Given the description of an element on the screen output the (x, y) to click on. 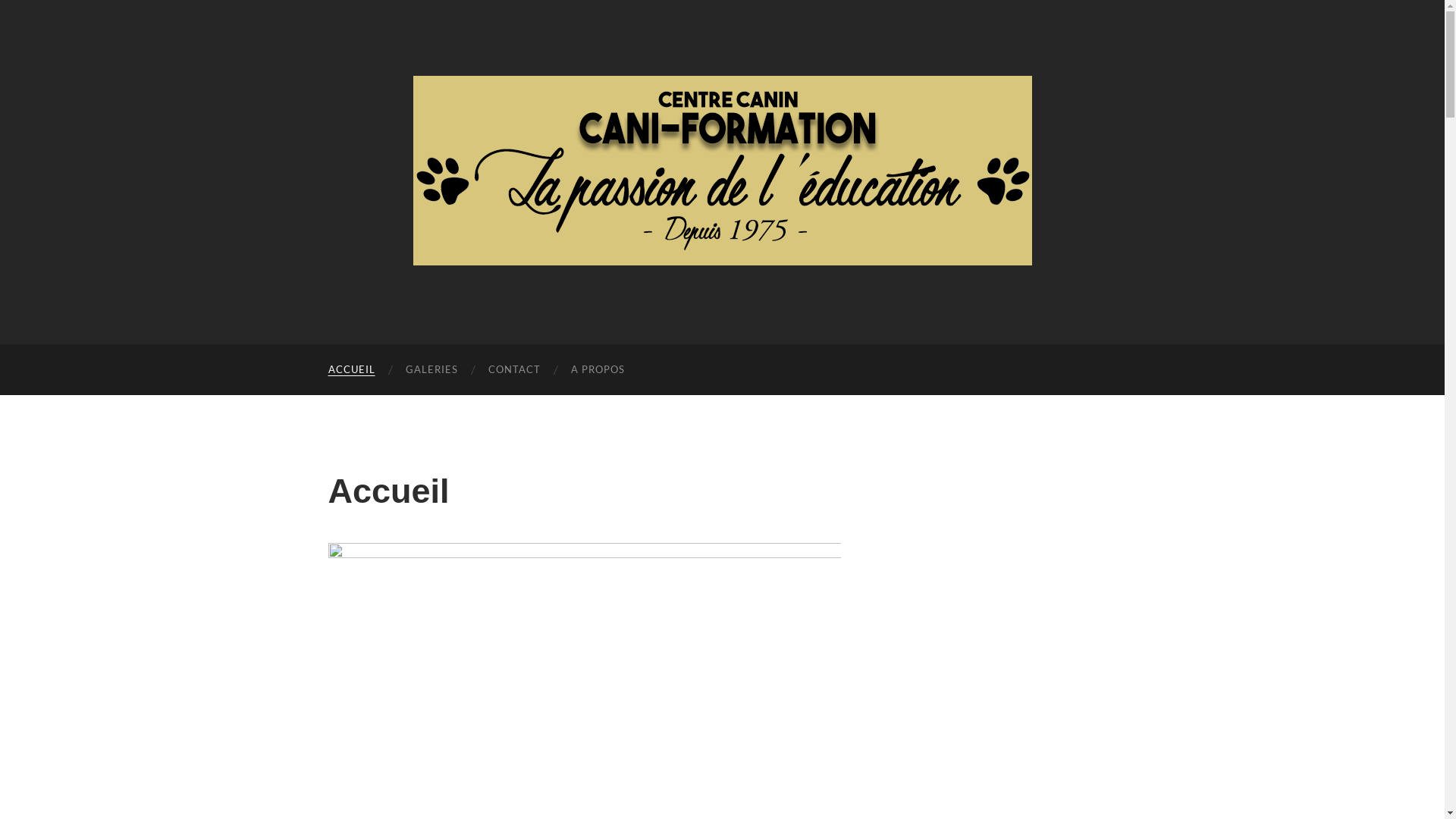
CONTACT Element type: text (514, 369)
ACCUEIL Element type: text (350, 369)
Jean-Paul Maret et Fabrice Pralong Element type: text (721, 170)
A PROPOS Element type: text (597, 369)
GALERIES Element type: text (430, 369)
